Given the description of an element on the screen output the (x, y) to click on. 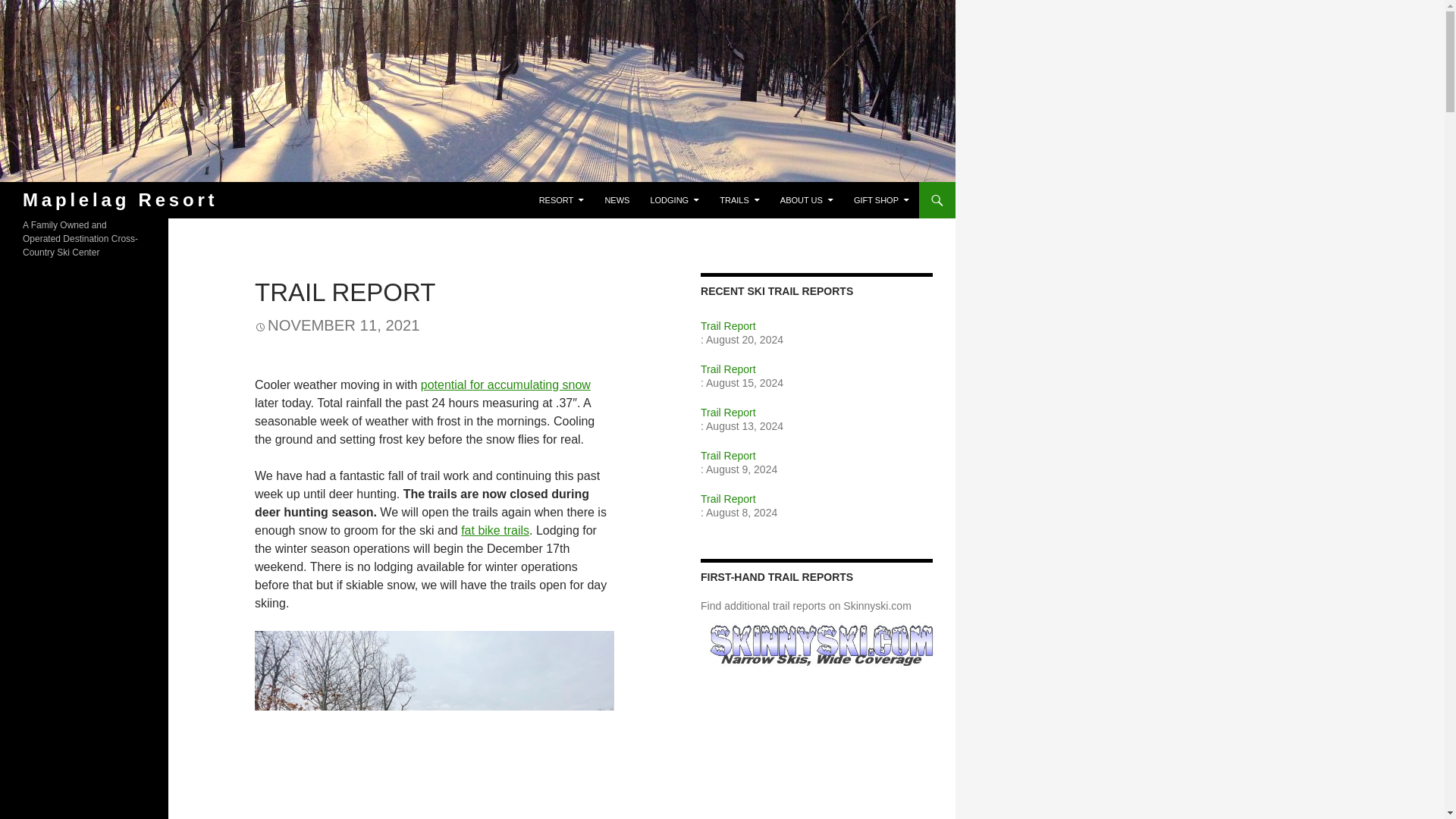
ABOUT US (807, 199)
LODGING (673, 199)
Trail Report (816, 326)
GIFT SHOP (881, 199)
TRAILS (739, 199)
RESORT (561, 199)
NOVEMBER 11, 2021 (337, 326)
NEWS (617, 199)
potential for accumulating snow (505, 384)
